Given the description of an element on the screen output the (x, y) to click on. 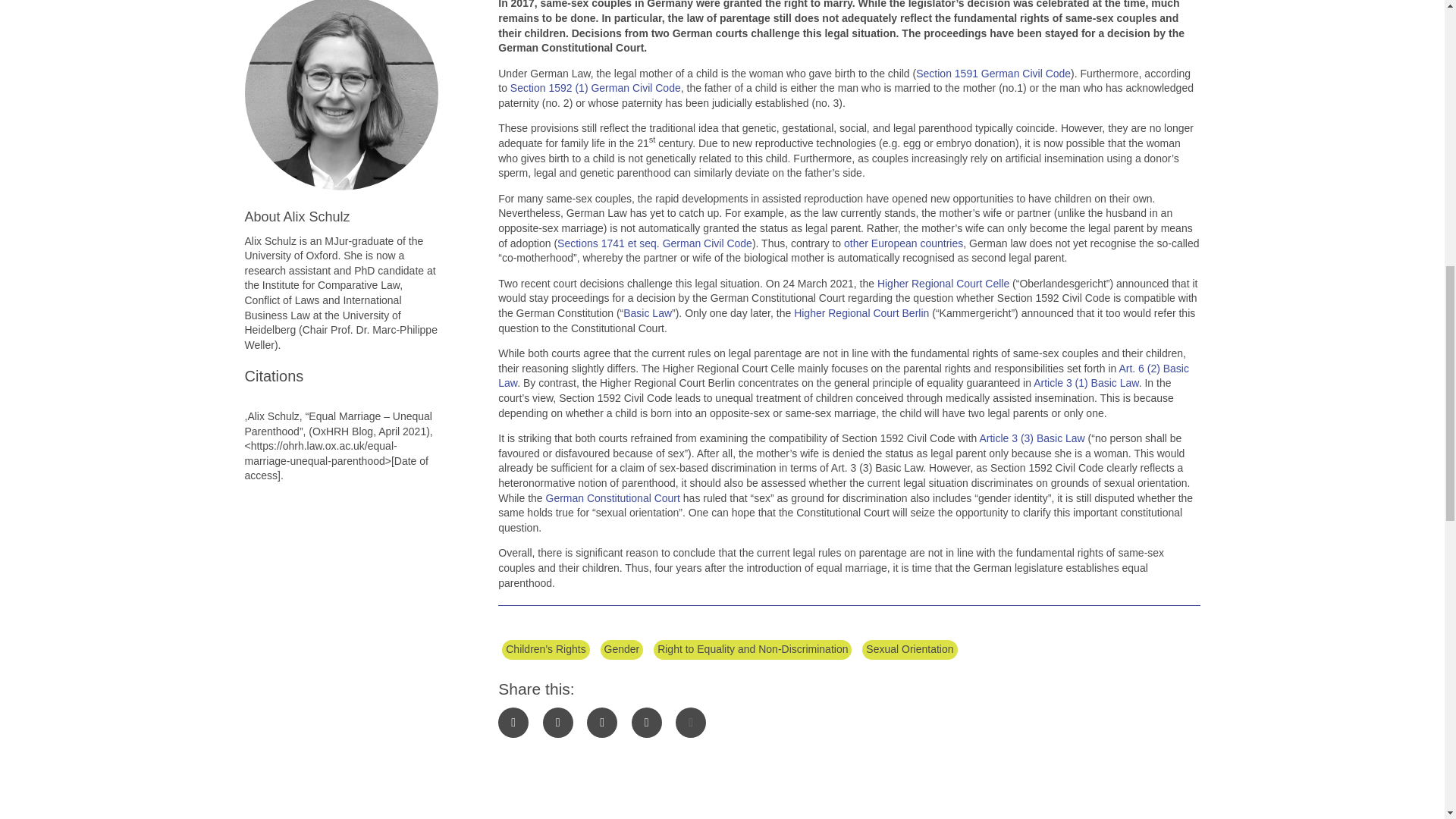
Sections 1741 et seq. German Civil Code (654, 243)
Alix Schulz (316, 216)
Section 1591 German Civil Code (992, 73)
